Given the description of an element on the screen output the (x, y) to click on. 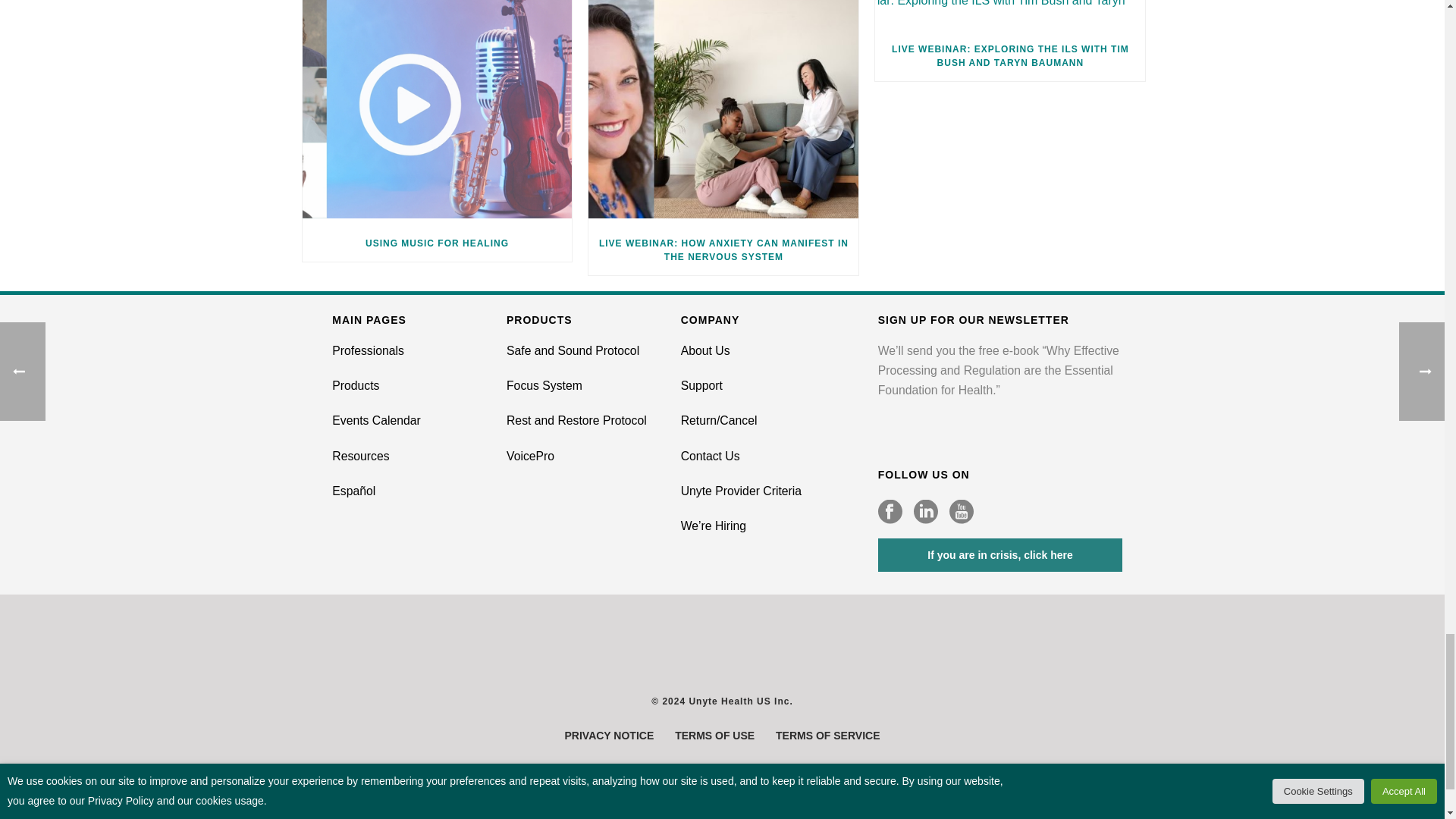
Using Music for Healing (436, 112)
Live Webinar: How Anxiety Can Manifest in the Nervous System (723, 112)
Follow Us on facebook (889, 512)
Follow Us on linkedin (925, 512)
Follow Us on youtube (961, 512)
